Given the description of an element on the screen output the (x, y) to click on. 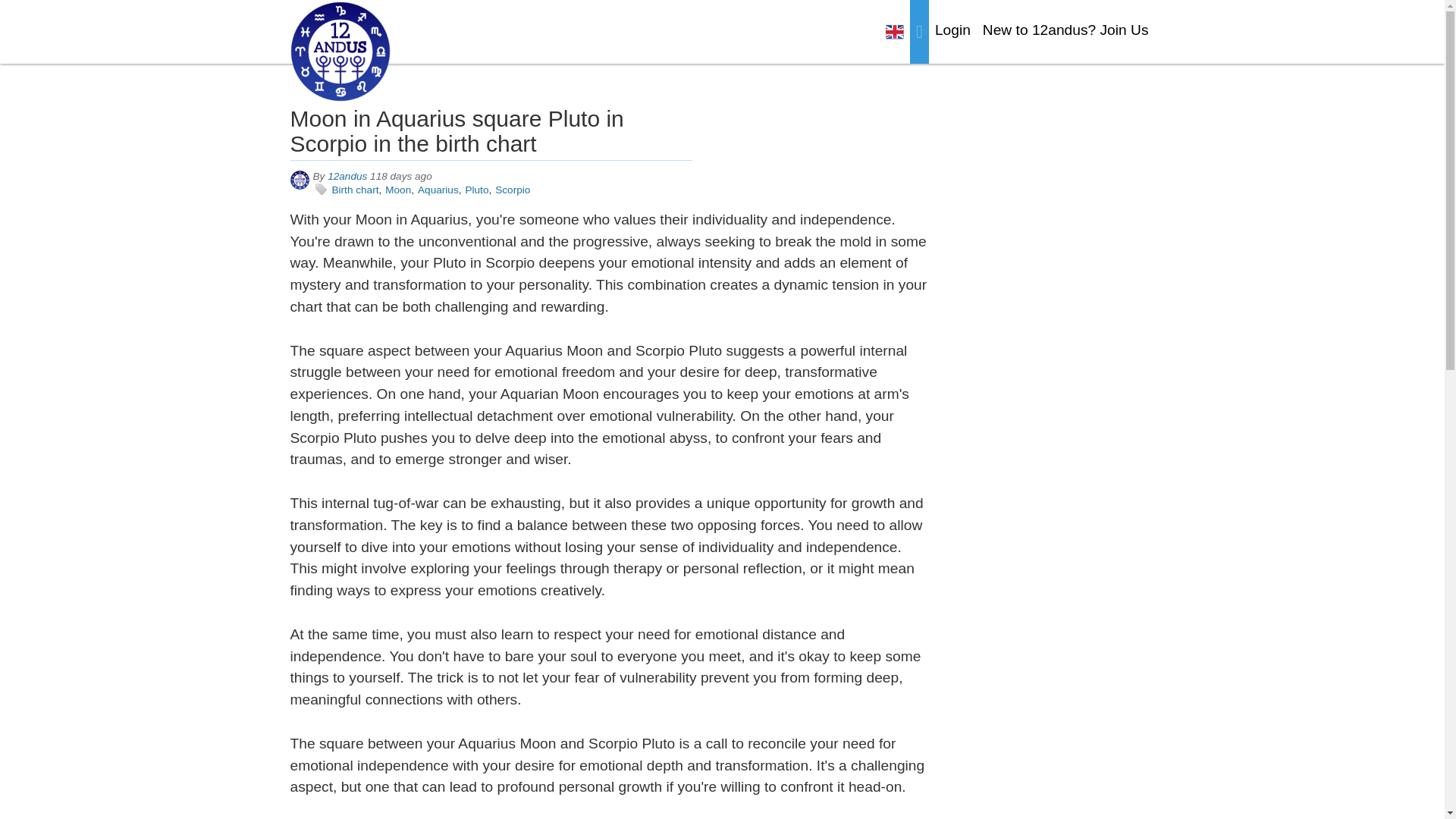
New to 12andus? Join Us (1065, 30)
English (894, 31)
